Given the description of an element on the screen output the (x, y) to click on. 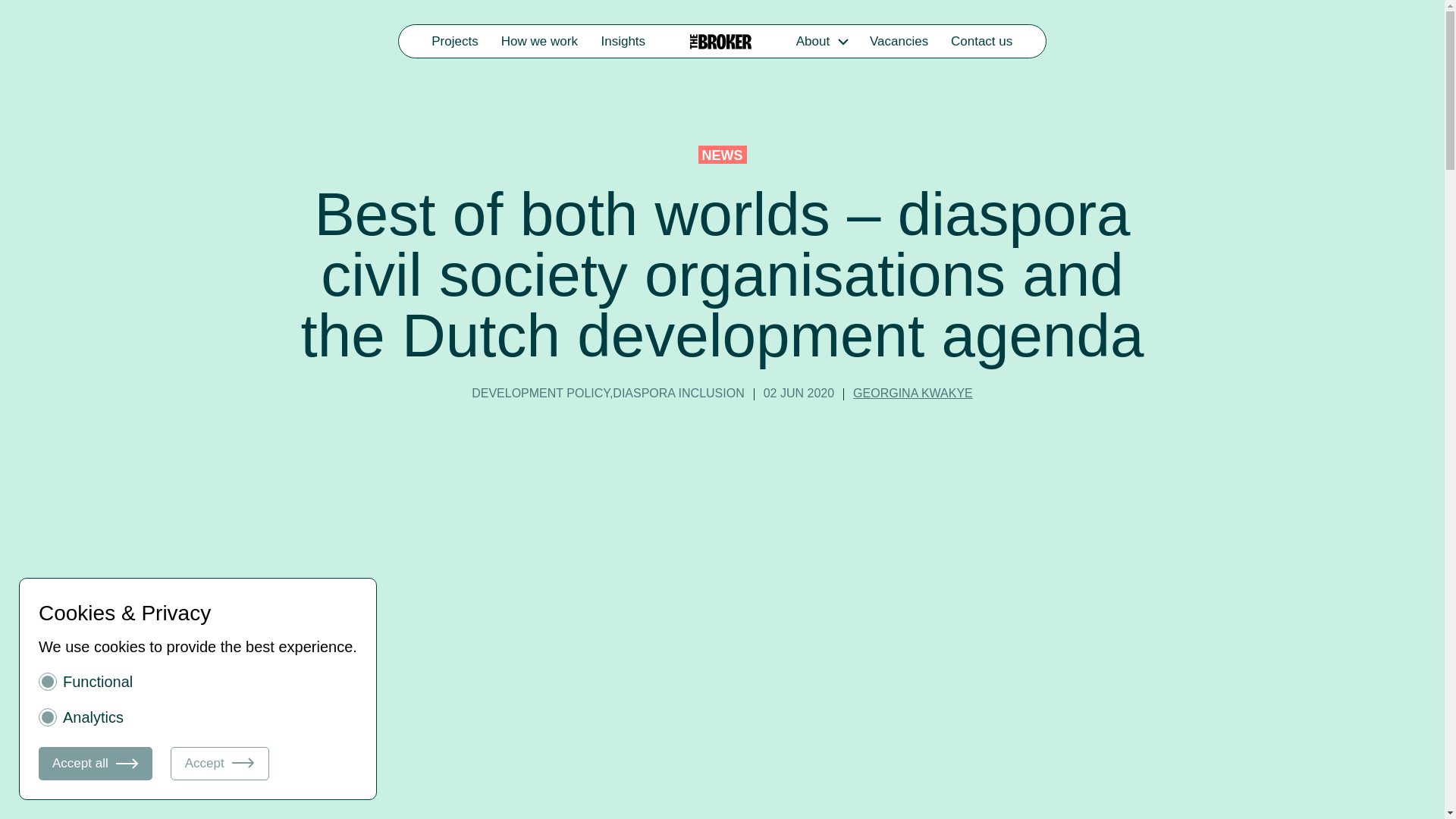
Projects (454, 41)
About (812, 41)
Insights (622, 41)
How we work (539, 41)
Accept all (95, 763)
Contact us (981, 41)
Accept (219, 763)
Vacancies (898, 41)
